Given the description of an element on the screen output the (x, y) to click on. 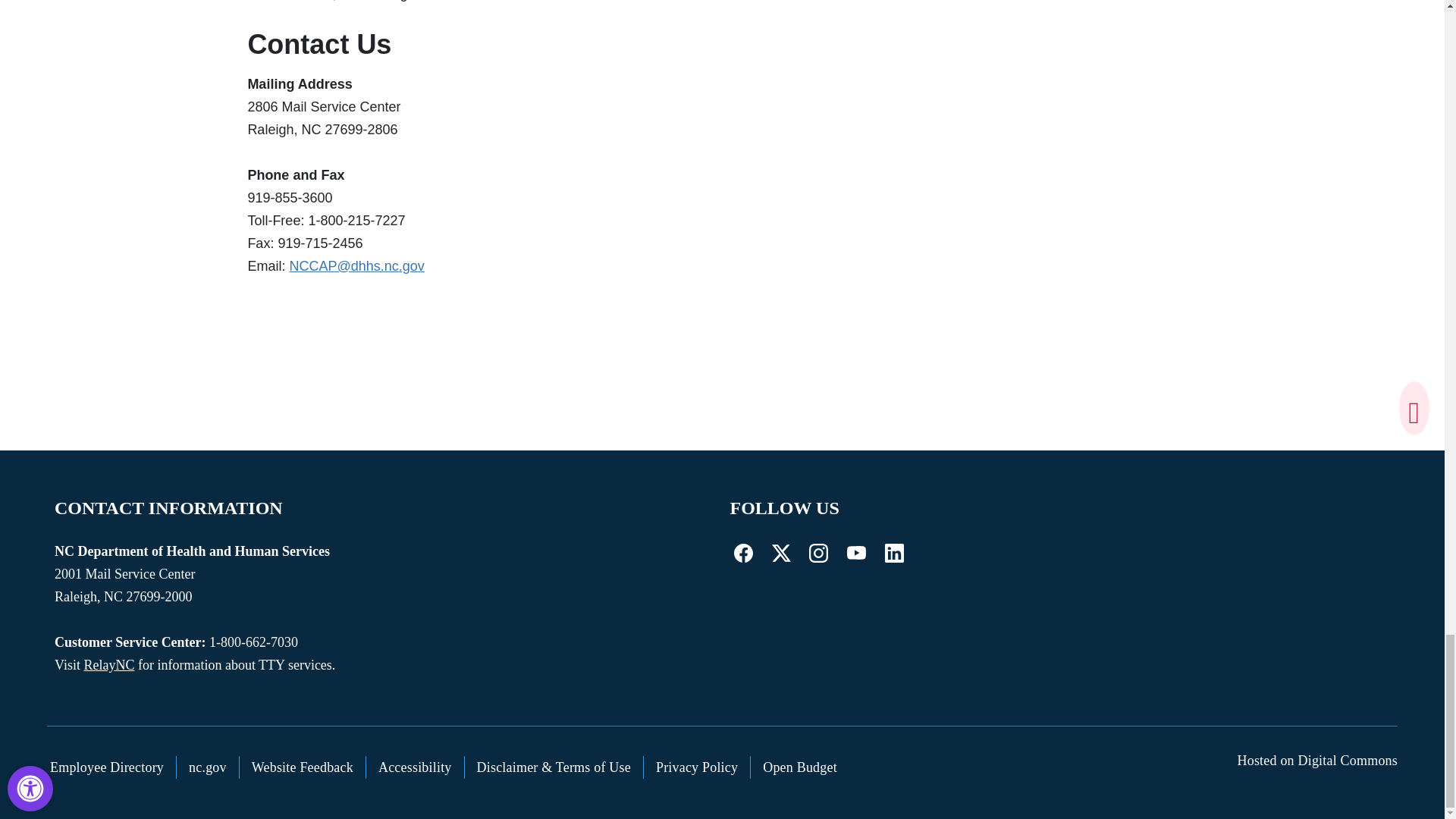
Accessibility of State of North Carolina Websites (415, 766)
The State of North Carolina (208, 766)
State of North Carolina Privacy Policy (697, 766)
State of North Carolina Open Budget (799, 766)
Terms of Use (553, 766)
Website User Feedback Form (303, 766)
